Given the description of an element on the screen output the (x, y) to click on. 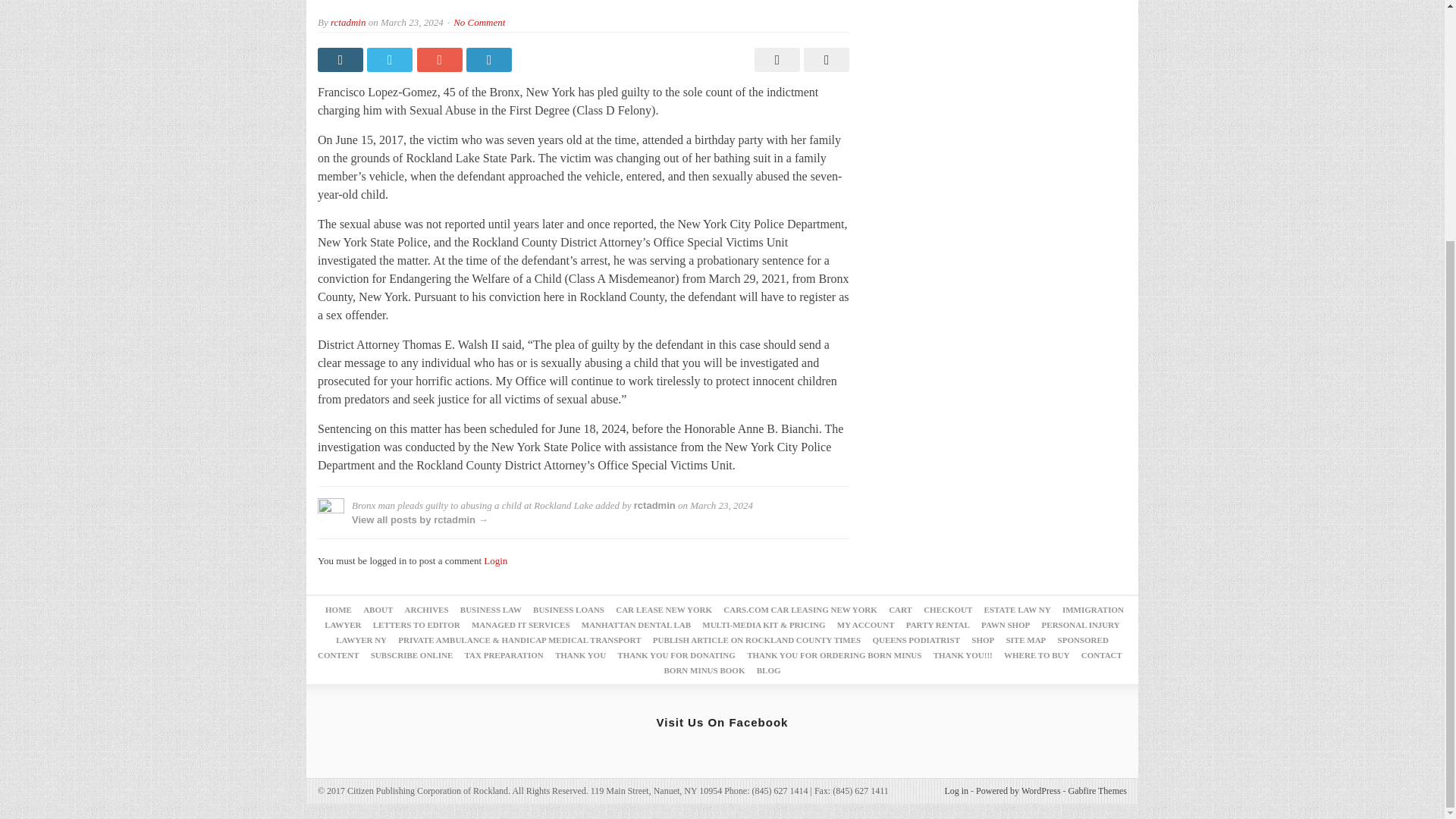
rctadmin (347, 21)
No Comment (478, 21)
Login (494, 560)
HOME (338, 609)
rctadmin (654, 505)
